Given the description of an element on the screen output the (x, y) to click on. 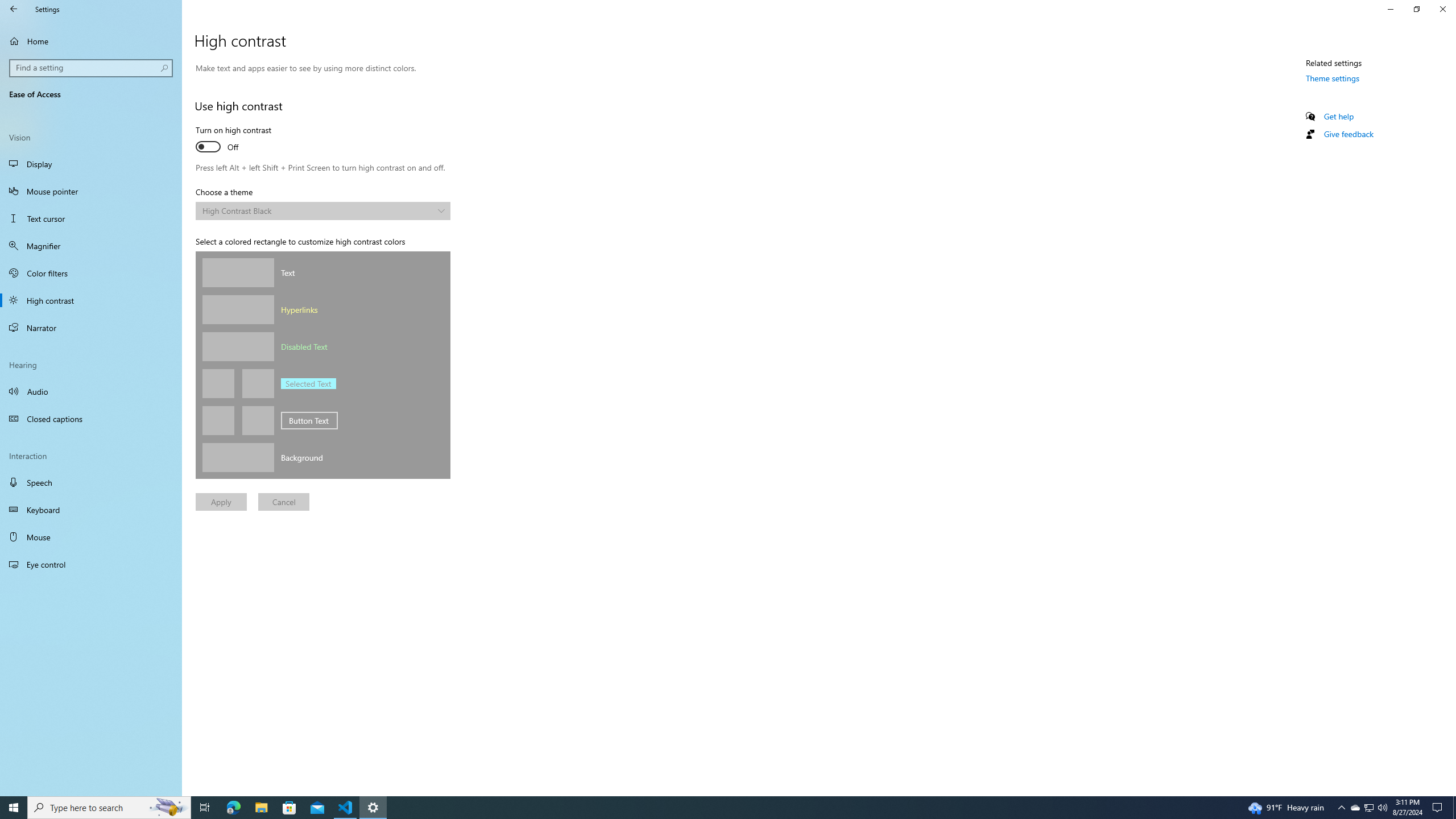
Closed captions (91, 418)
Microsoft Edge (233, 807)
Apply (221, 502)
Magnifier (91, 245)
Disabled text color (237, 346)
Mouse pointer (91, 190)
Visual Studio Code - 1 running window (345, 807)
High contrast theme (1355, 807)
Minimize Settings (322, 211)
User Promoted Notification Area (1390, 9)
Theme settings (1368, 807)
Eye control (1332, 77)
Close Settings (91, 564)
Microsoft Store (1442, 9)
